Given the description of an element on the screen output the (x, y) to click on. 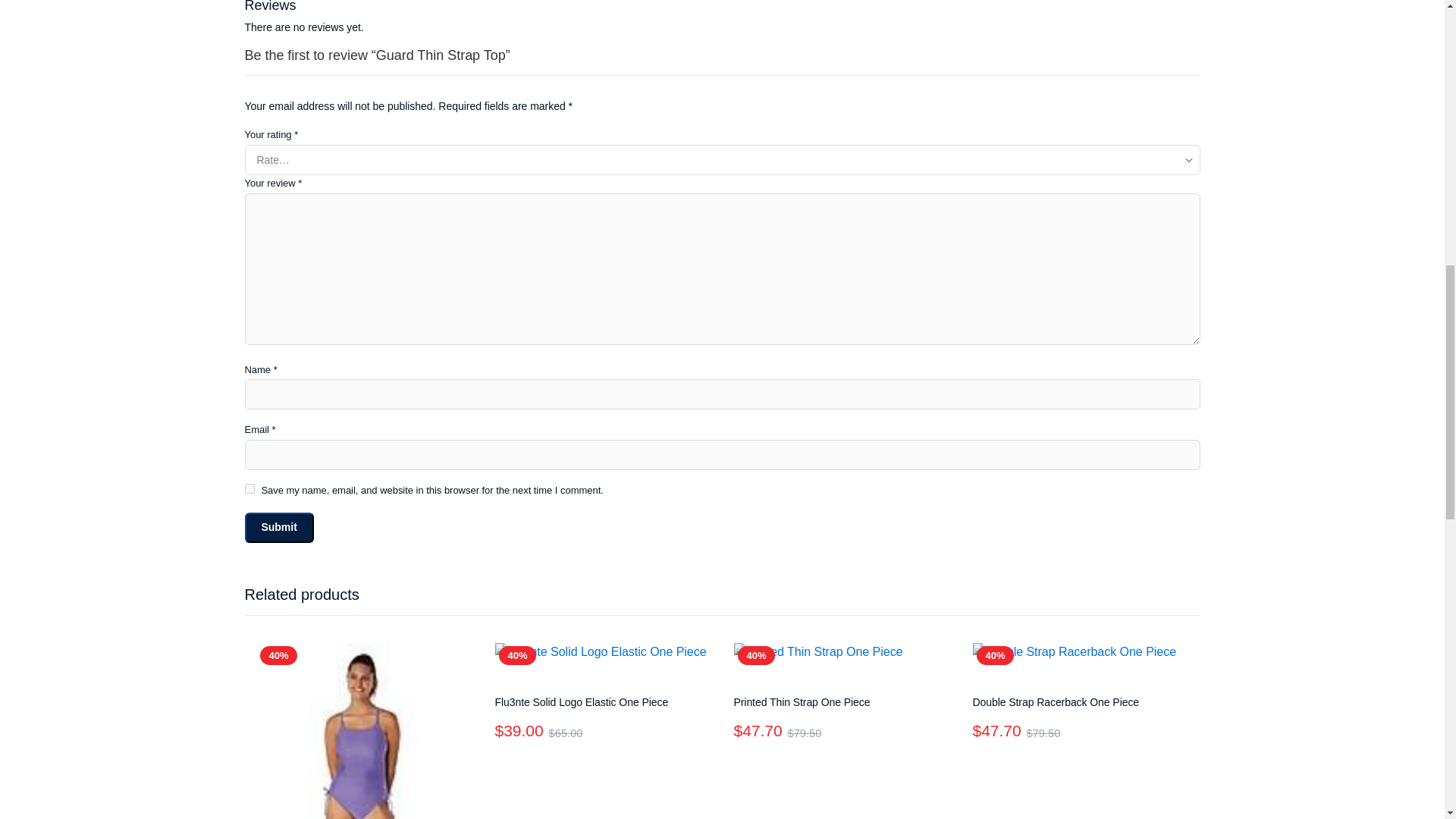
Submit (278, 527)
yes (248, 488)
Submit (278, 527)
Flu3nte Solid Logo Elastic One Piece (581, 702)
